Given the description of an element on the screen output the (x, y) to click on. 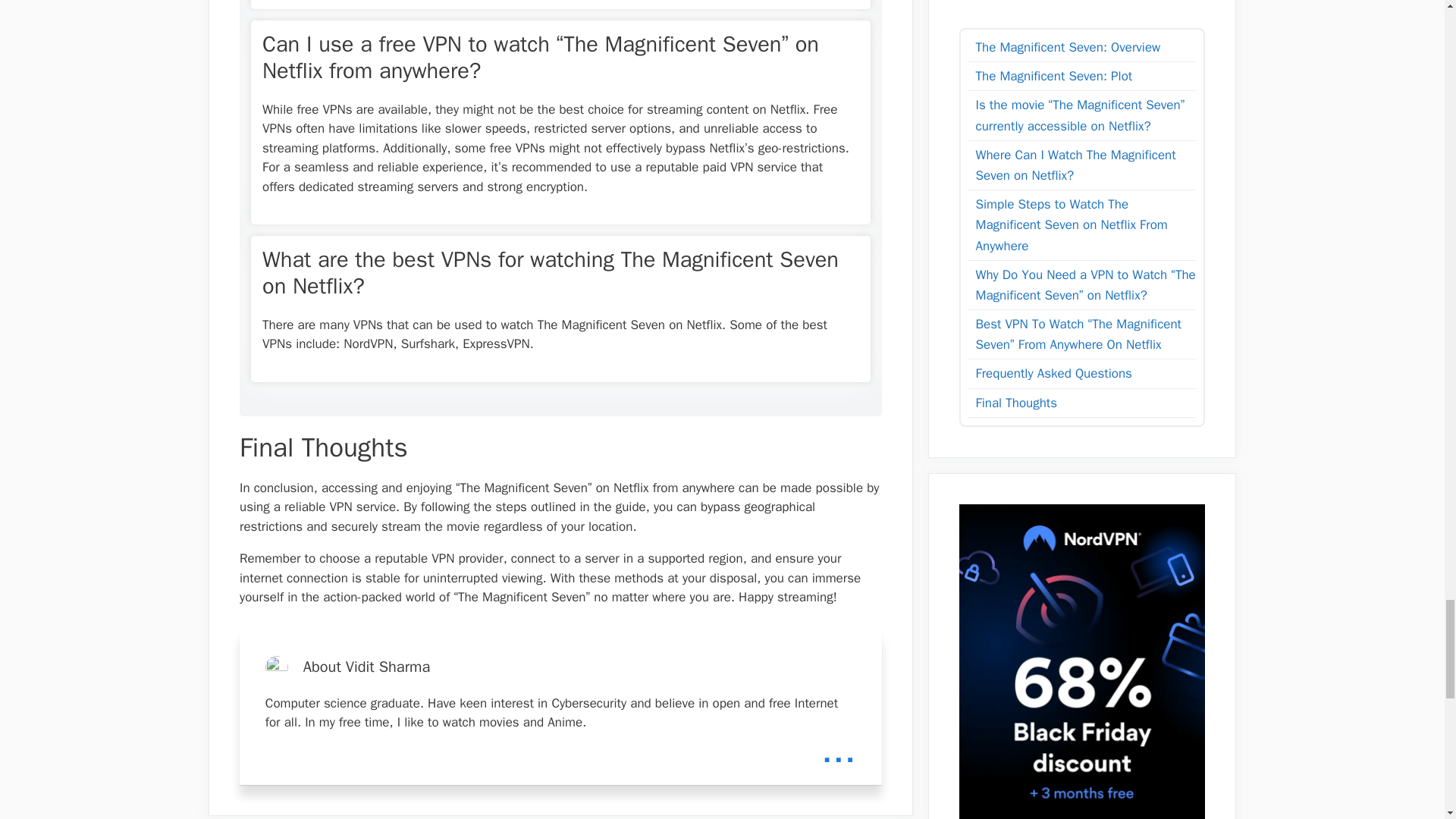
Read more (838, 750)
